Given the description of an element on the screen output the (x, y) to click on. 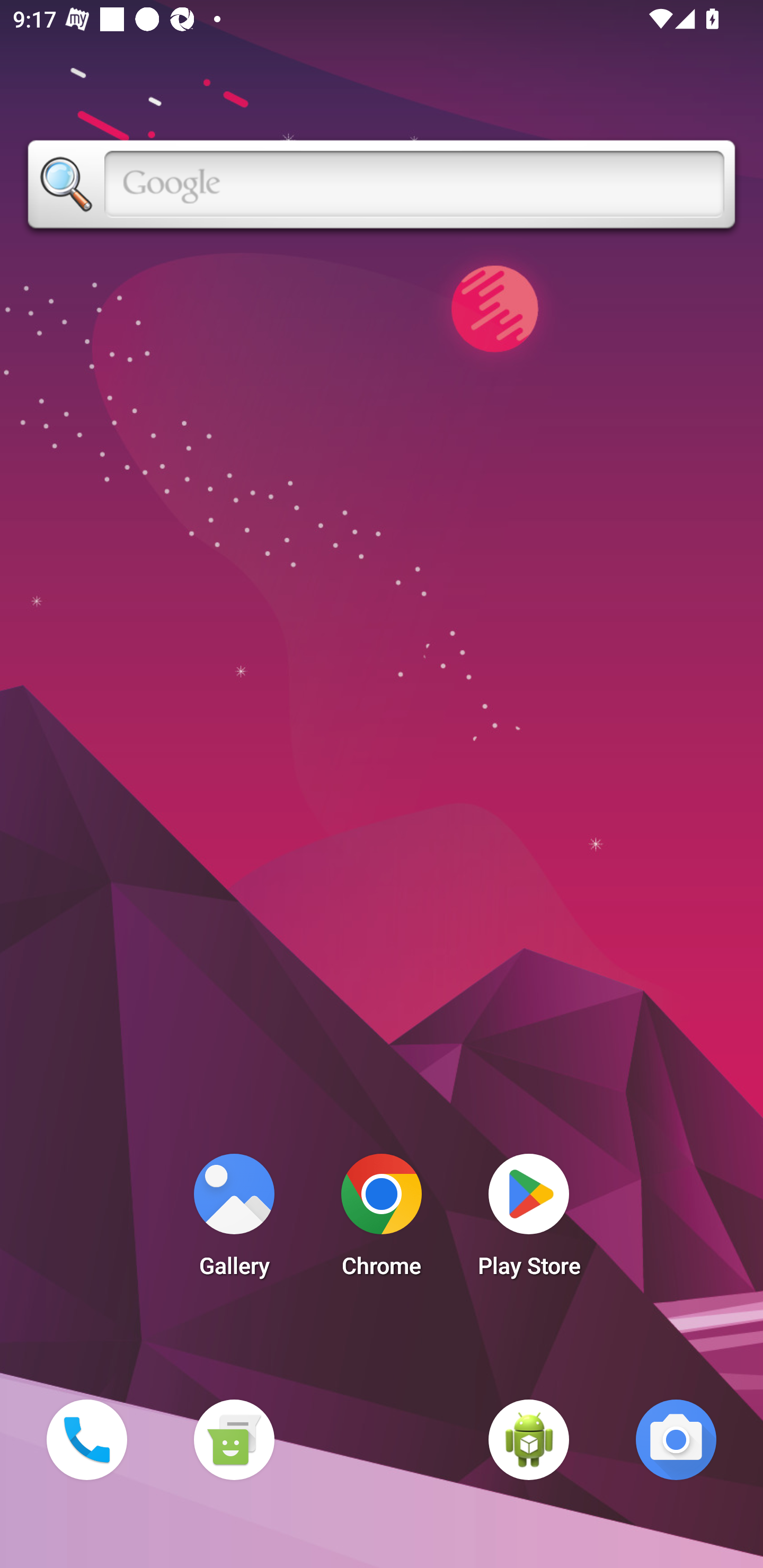
Gallery (233, 1220)
Chrome (381, 1220)
Play Store (528, 1220)
Phone (86, 1439)
Messaging (233, 1439)
WebView Browser Tester (528, 1439)
Camera (676, 1439)
